Given the description of an element on the screen output the (x, y) to click on. 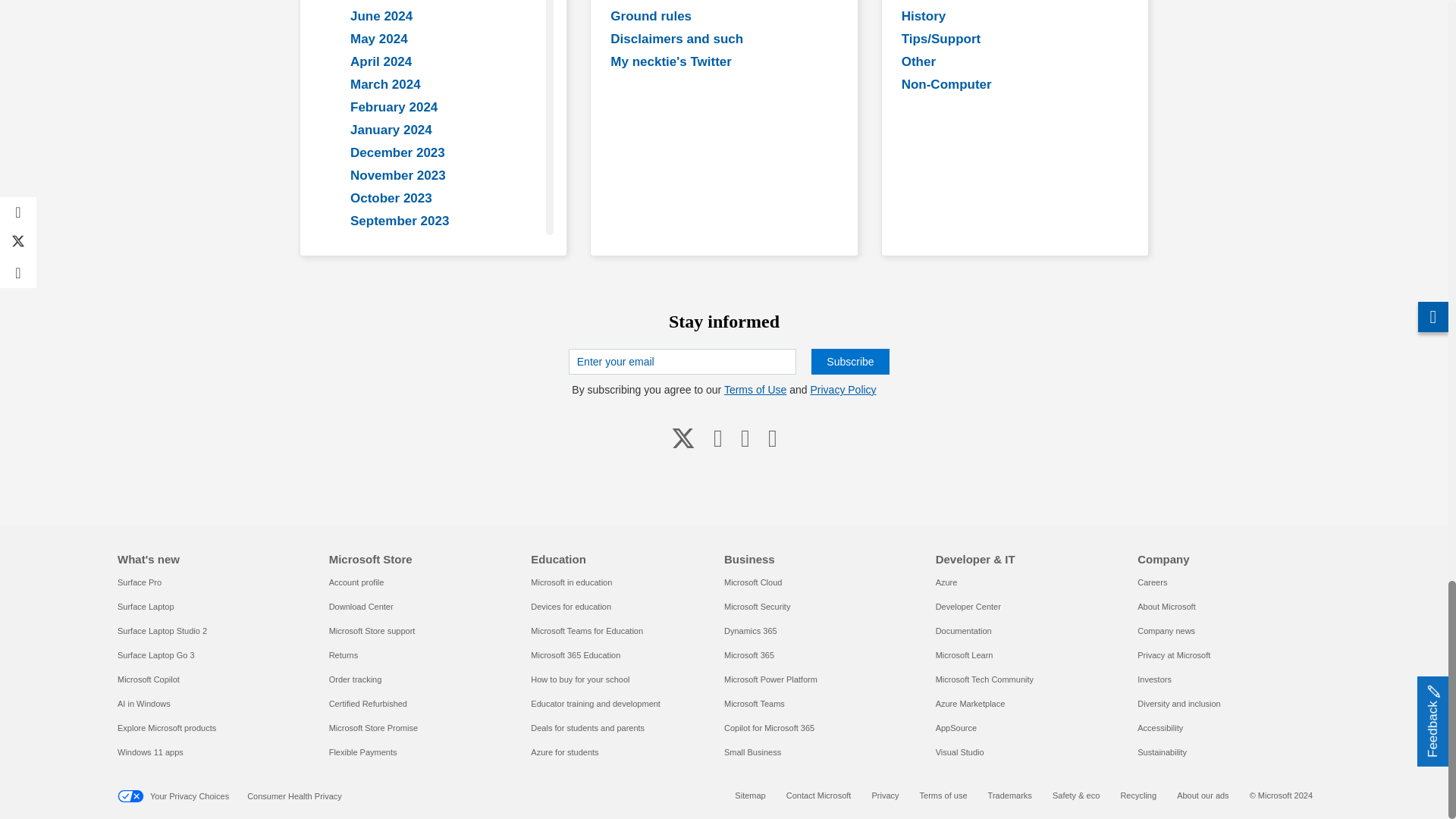
GitHub (745, 436)
twitter (683, 436)
Subscribe (849, 361)
RSS Feed (772, 436)
youtube (718, 436)
